Given the description of an element on the screen output the (x, y) to click on. 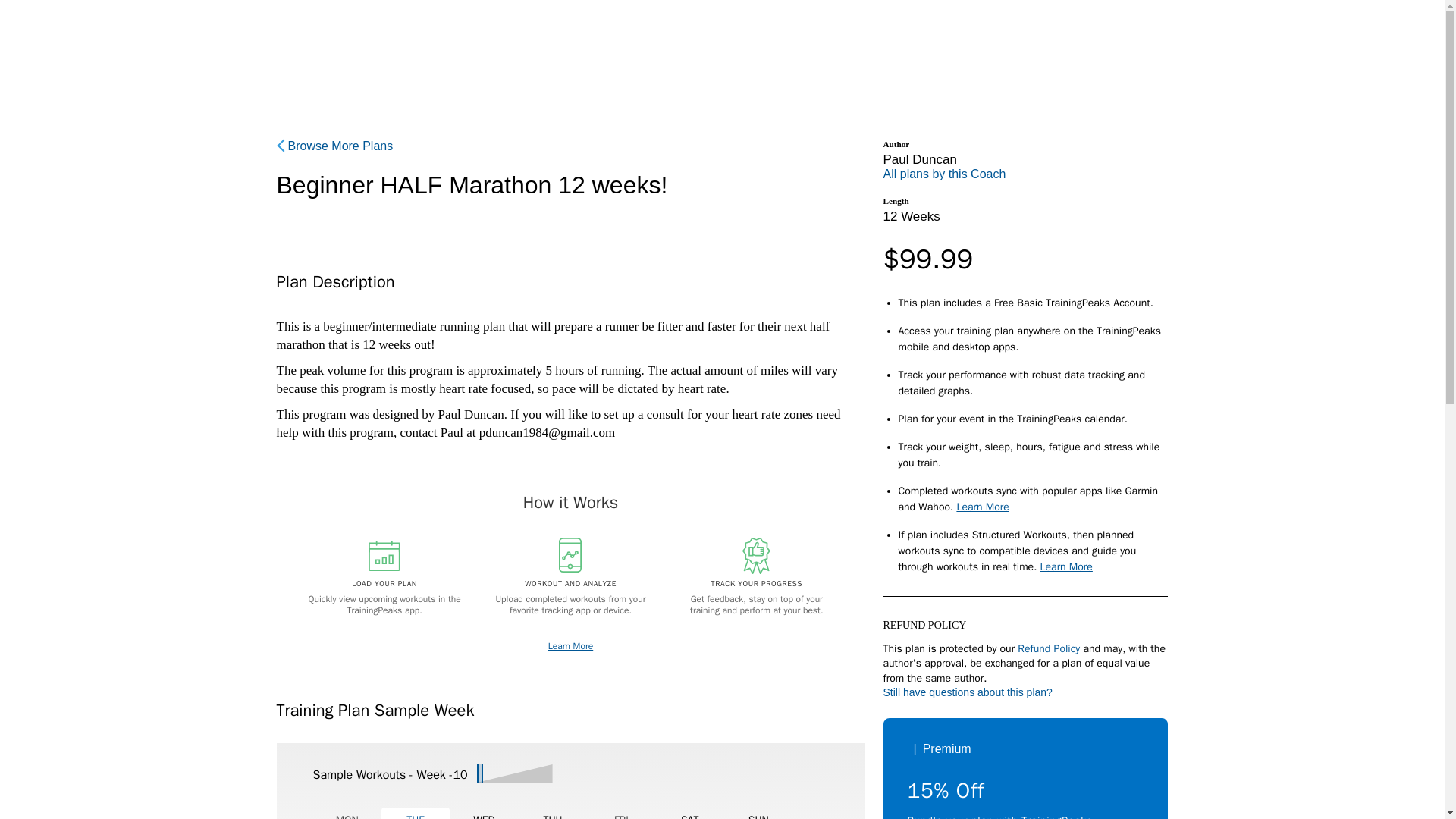
Learn More (570, 645)
All plans by this Coach (944, 173)
Still have questions about this plan? (966, 692)
Learn More (982, 506)
Learn More (1067, 566)
Browse More Plans (334, 145)
Refund Policy (1048, 648)
